Given the description of an element on the screen output the (x, y) to click on. 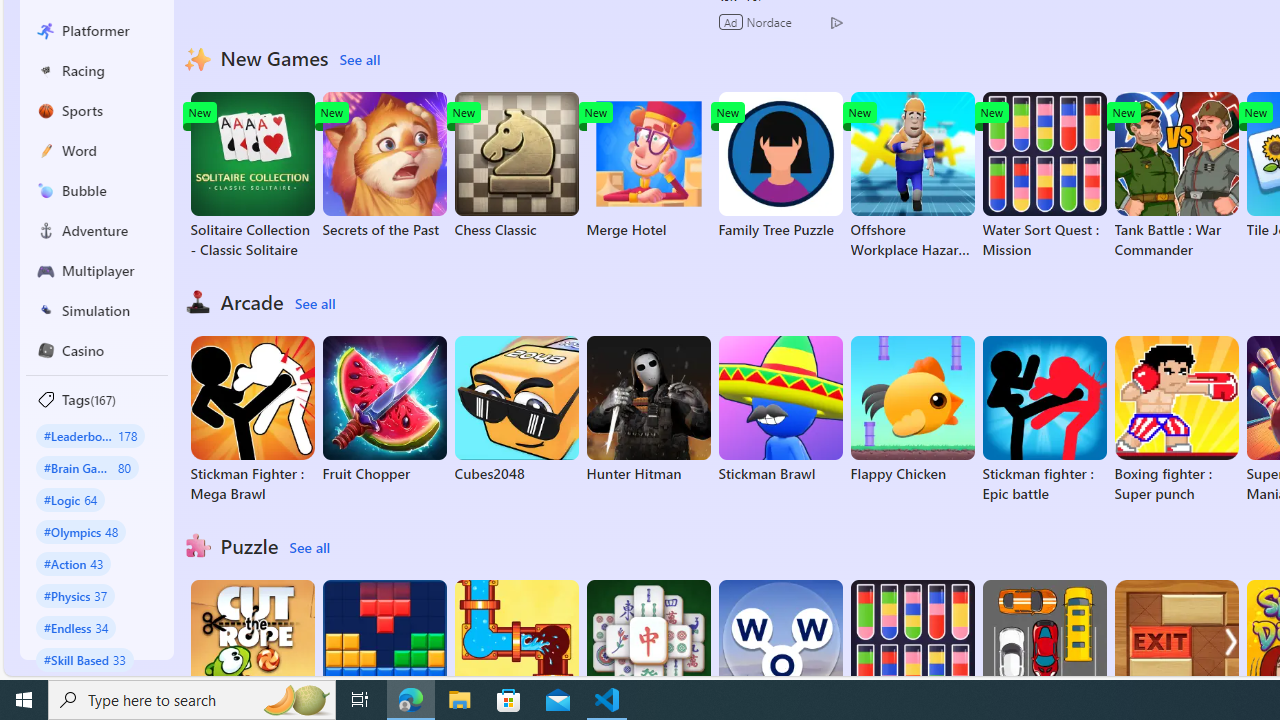
#Logic 64 (70, 498)
Stickman Fighter : Mega Brawl (251, 419)
Secrets of the Past (384, 165)
Fruit Chopper (384, 409)
Tank Battle : War Commander (1176, 175)
See all (309, 547)
Merge Hotel (648, 165)
#Action 43 (73, 563)
Flappy Chicken (912, 409)
Cubes2048 (516, 409)
Water Sort Quest : Mission (1044, 175)
#Olympics 48 (80, 531)
